Given the description of an element on the screen output the (x, y) to click on. 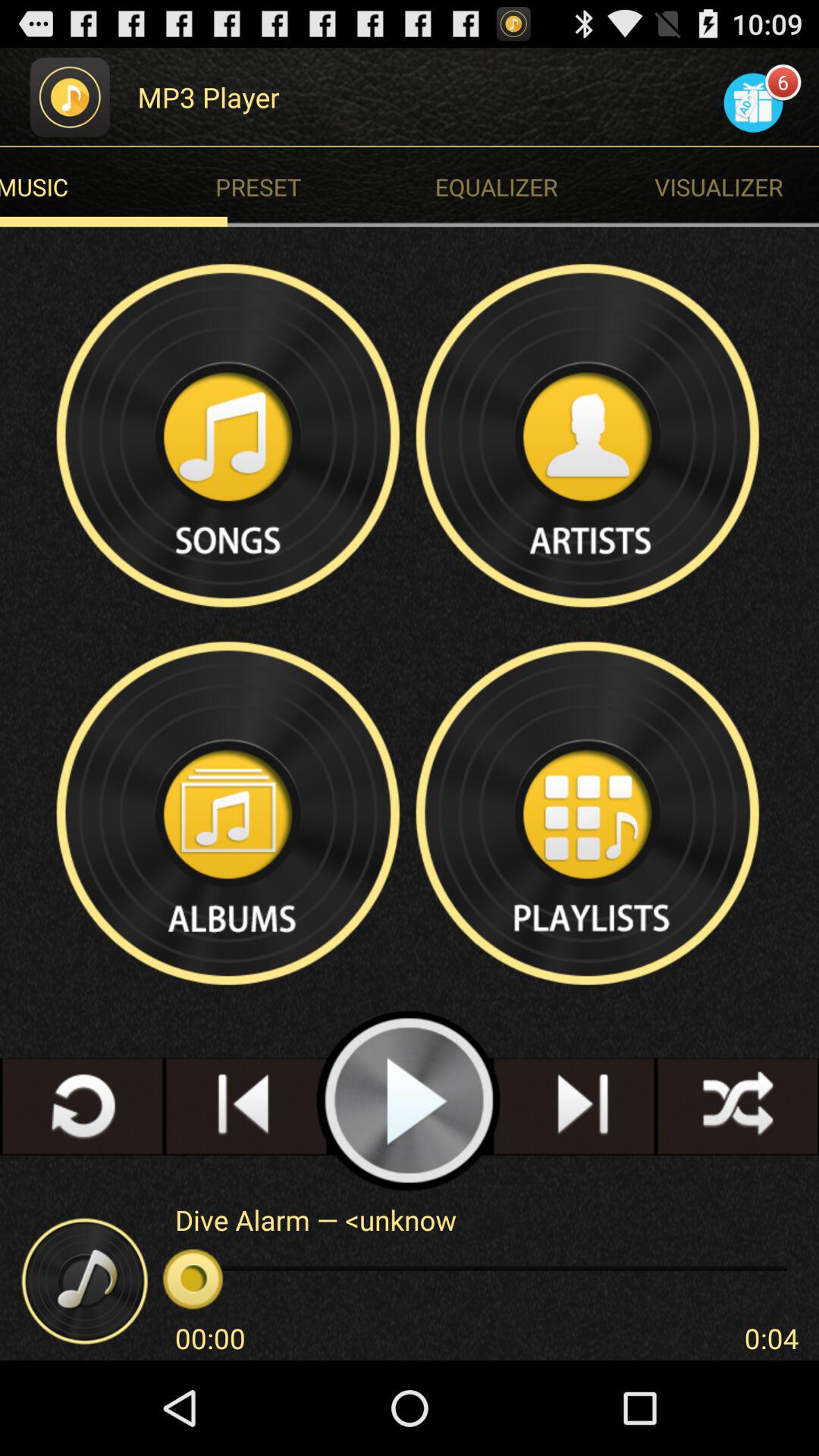
go to albums (229, 813)
